Given the description of an element on the screen output the (x, y) to click on. 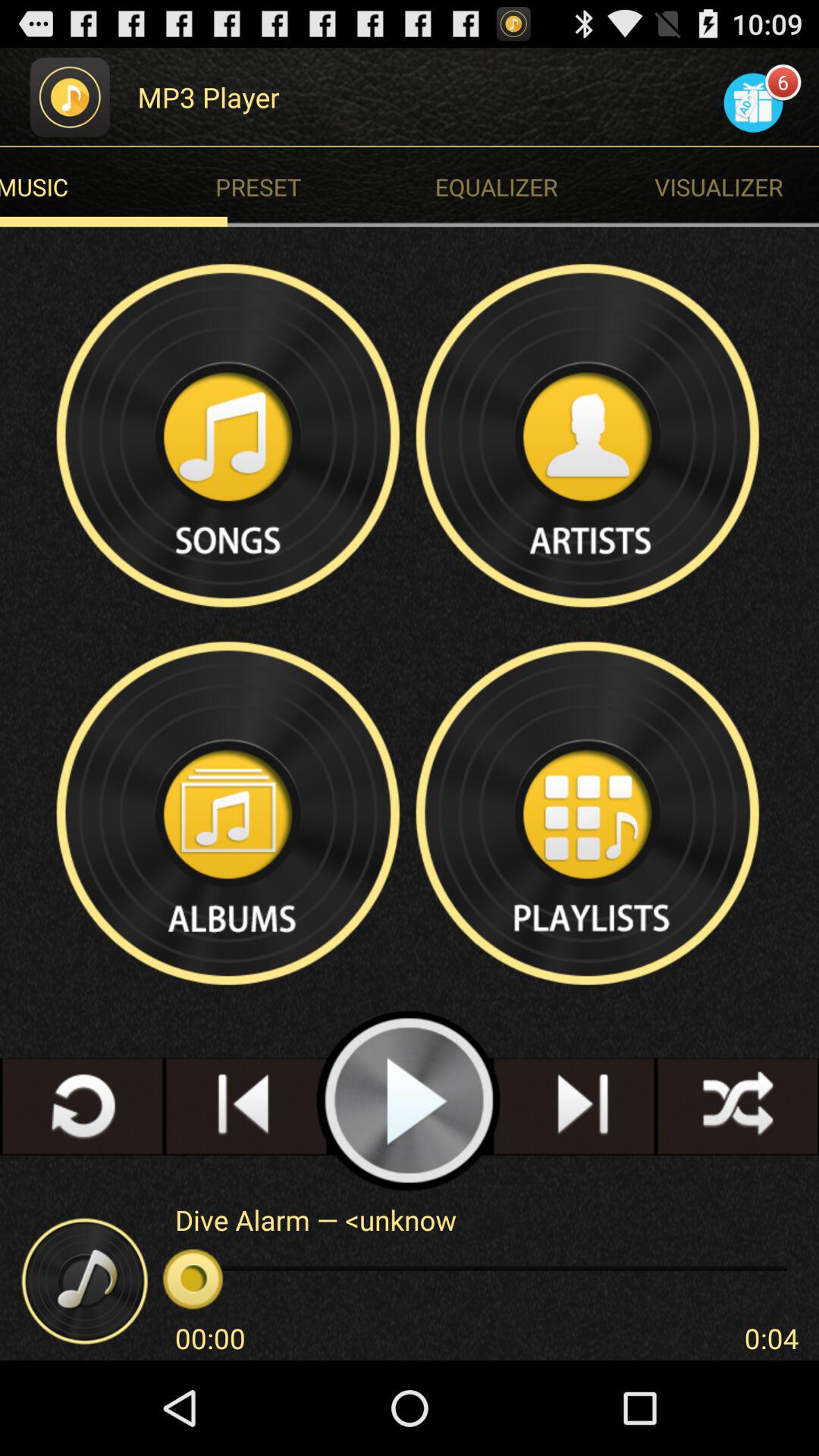
go to albums (229, 813)
